Given the description of an element on the screen output the (x, y) to click on. 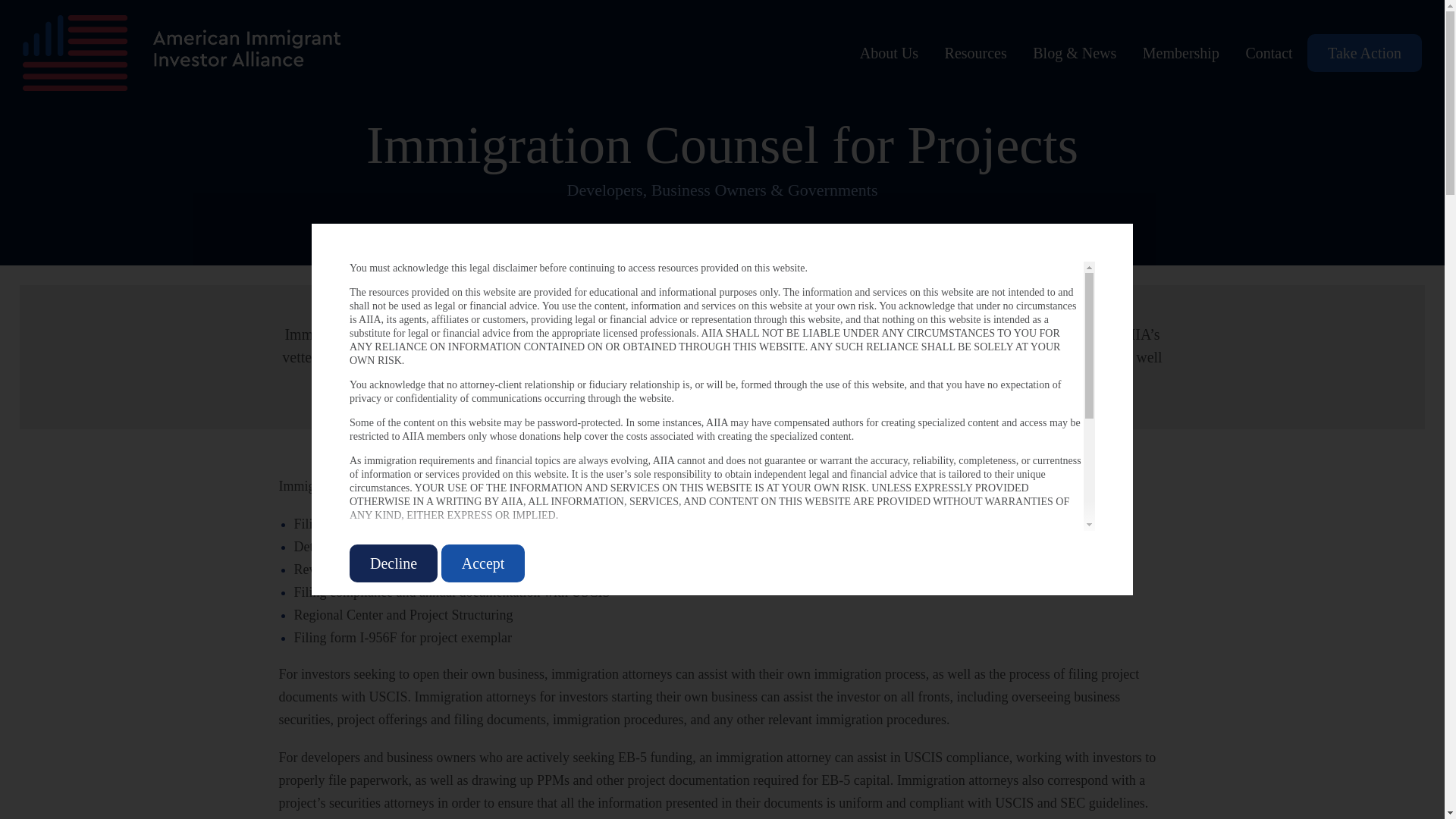
Decline (393, 563)
Membership (1180, 53)
Take Action (1364, 53)
